Given the description of an element on the screen output the (x, y) to click on. 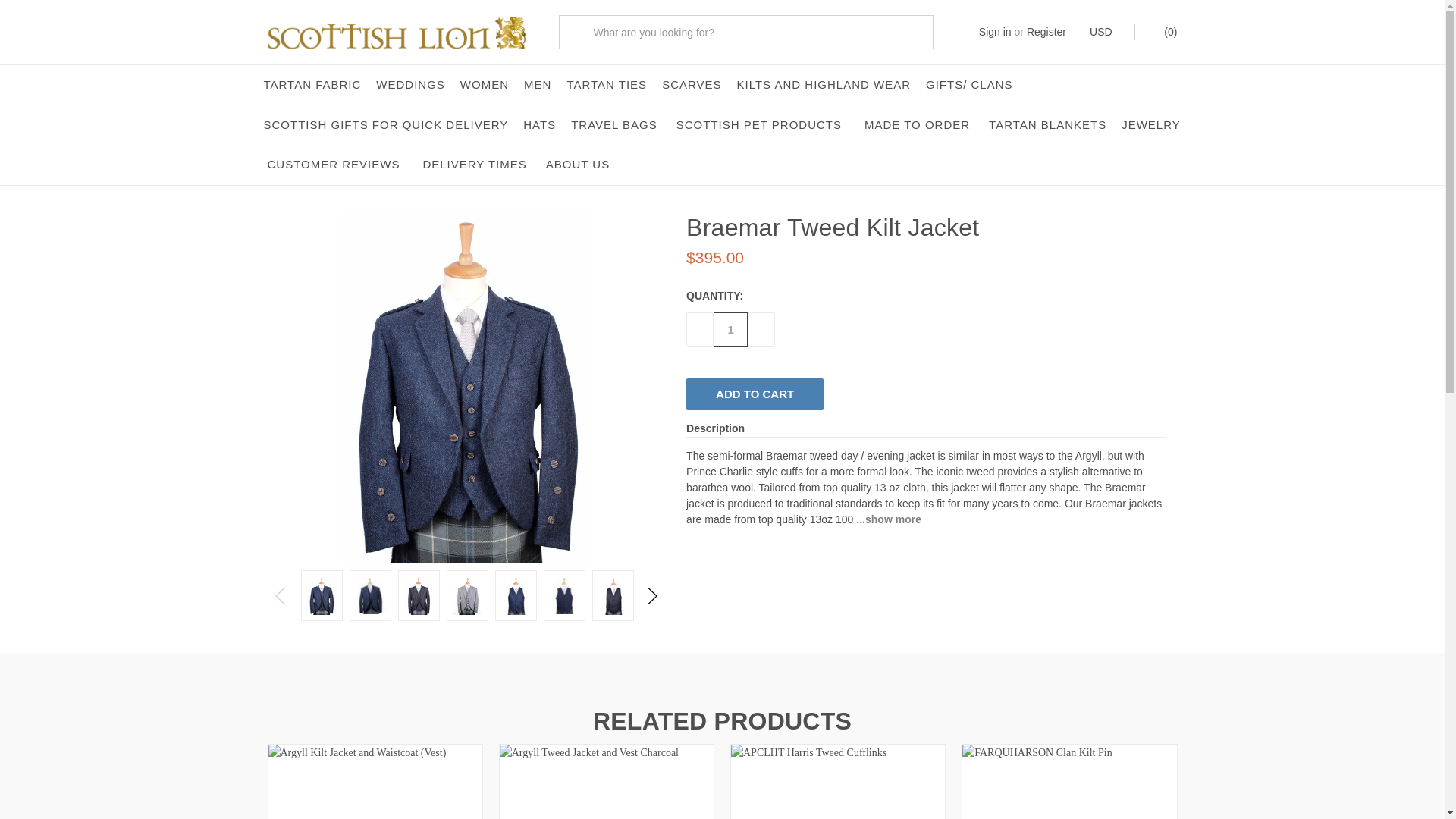
Braemar Tweed Kilt Jacket and Waistcoat - Lomond Blue Tweed (320, 596)
Braemar Tweed Kilt Waistcoat - Navy Arrochar (564, 596)
Scottish Lion (395, 31)
Braemar Tweed Kilt Jacket and Waistcoat -Light Grey Arrochar (466, 596)
TARTAN FABRIC (312, 85)
USD (1106, 32)
FARQUHARSON Clan Kilt Pin (1069, 781)
Register (1045, 32)
Sign in (994, 32)
Braemar Tweed Kilt Jacket and Waistcoat - Lomond Blue Tweed (466, 387)
Argyll Tweed Jacket and Vest Charcoal (606, 781)
WEDDINGS (410, 85)
Braemar Tweed Kilt Jacket and Waistcoat - Navy Arrochar (370, 596)
WOMEN (484, 85)
Braemar Tweed Kilt  Waistcoat - Lomond Blue Tweed (515, 596)
